Given the description of an element on the screen output the (x, y) to click on. 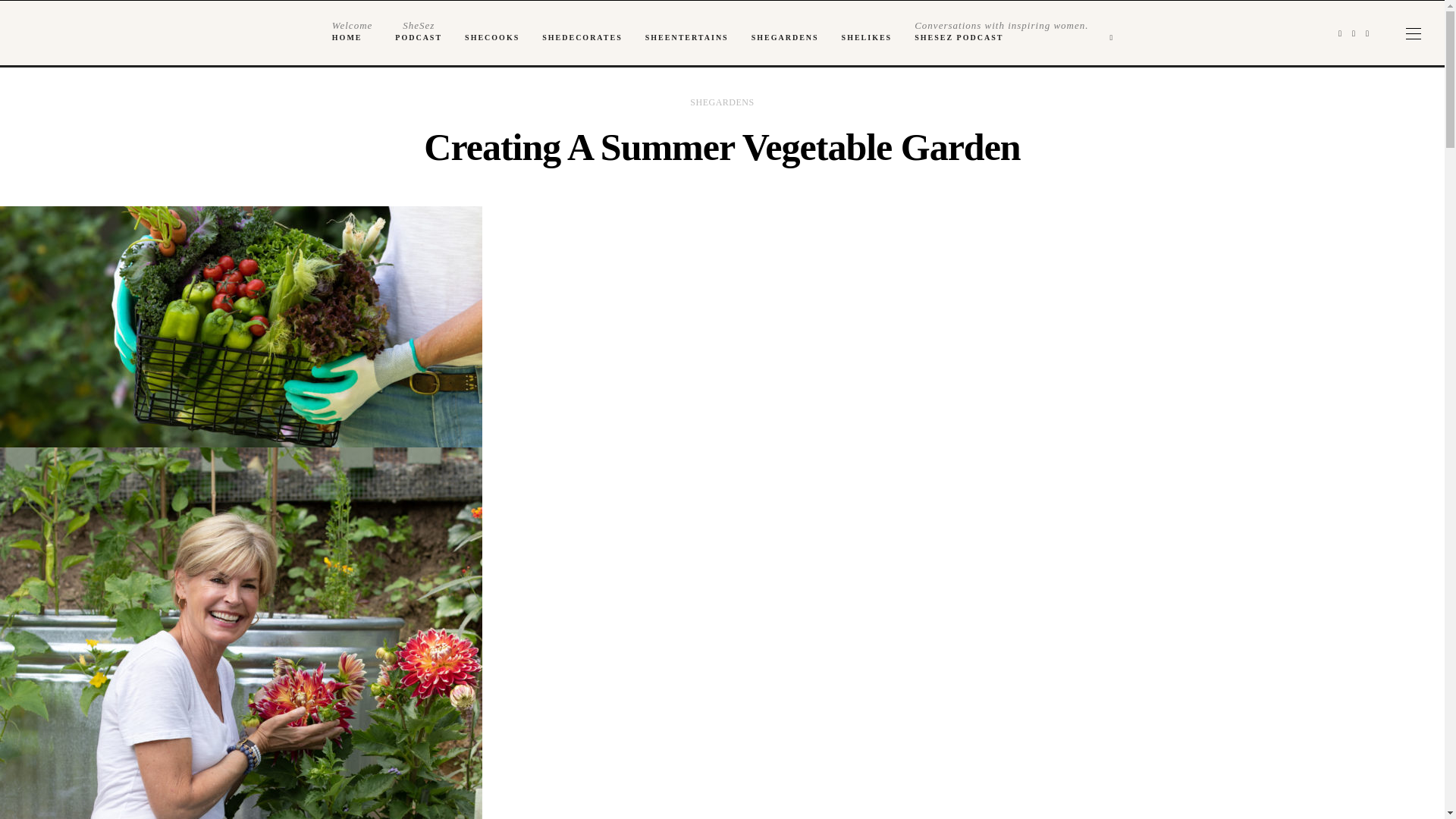
SHEENTERTAINS (686, 37)
SHECOOKS (1000, 32)
SHEDECORATES (491, 37)
SHEGARDENS (352, 32)
SHEGARDENS (418, 32)
SHELIKES (582, 37)
